Given the description of an element on the screen output the (x, y) to click on. 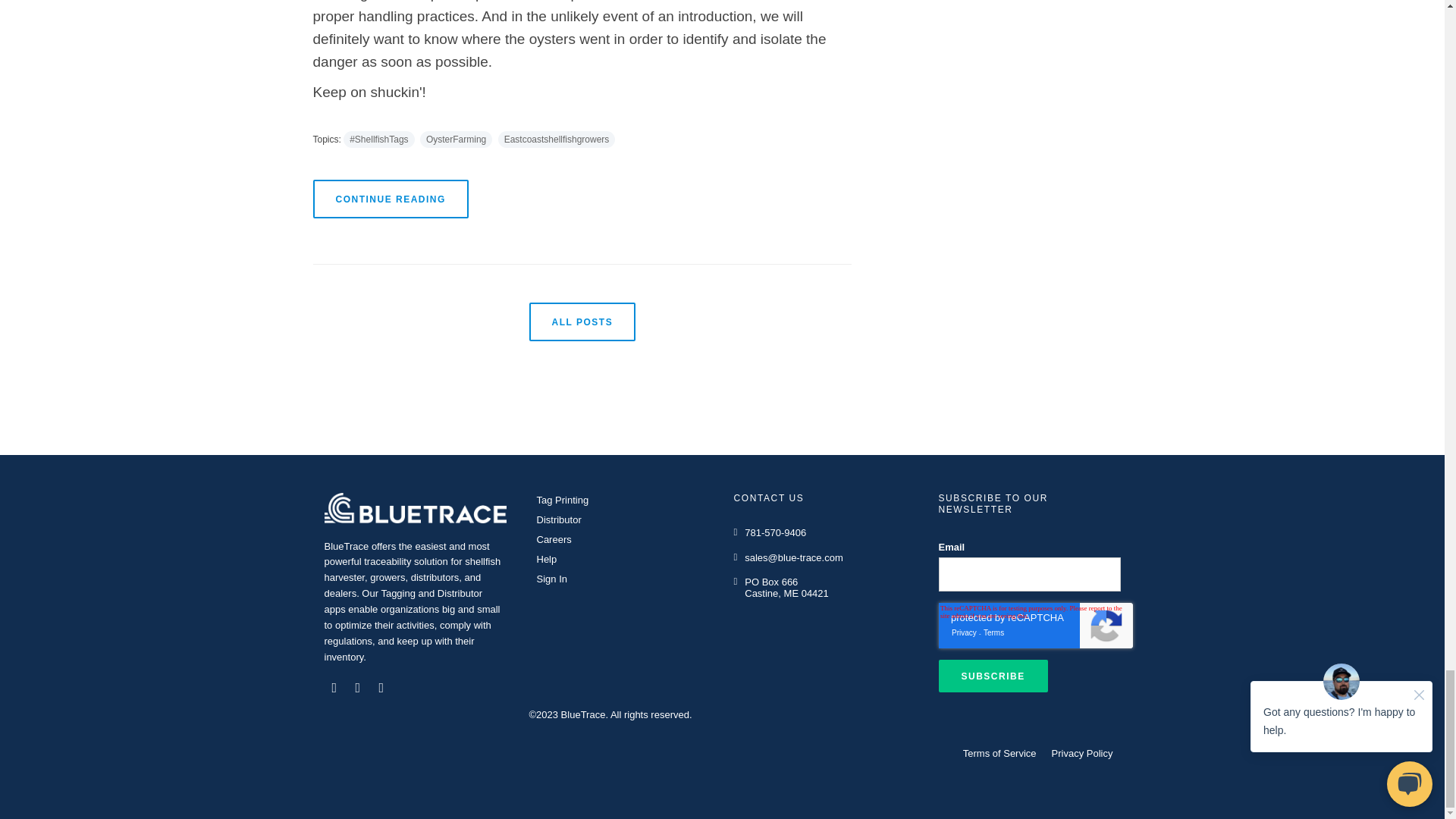
Subscribe (993, 676)
Tag Printing (562, 502)
Sign In (552, 581)
Help (546, 561)
Eastcoastshellfishgrowers (556, 139)
Distributor (559, 522)
Careers (554, 542)
reCAPTCHA (1035, 625)
CONTINUE READING (390, 198)
ALL POSTS (582, 321)
OysterFarming (456, 139)
